Given the description of an element on the screen output the (x, y) to click on. 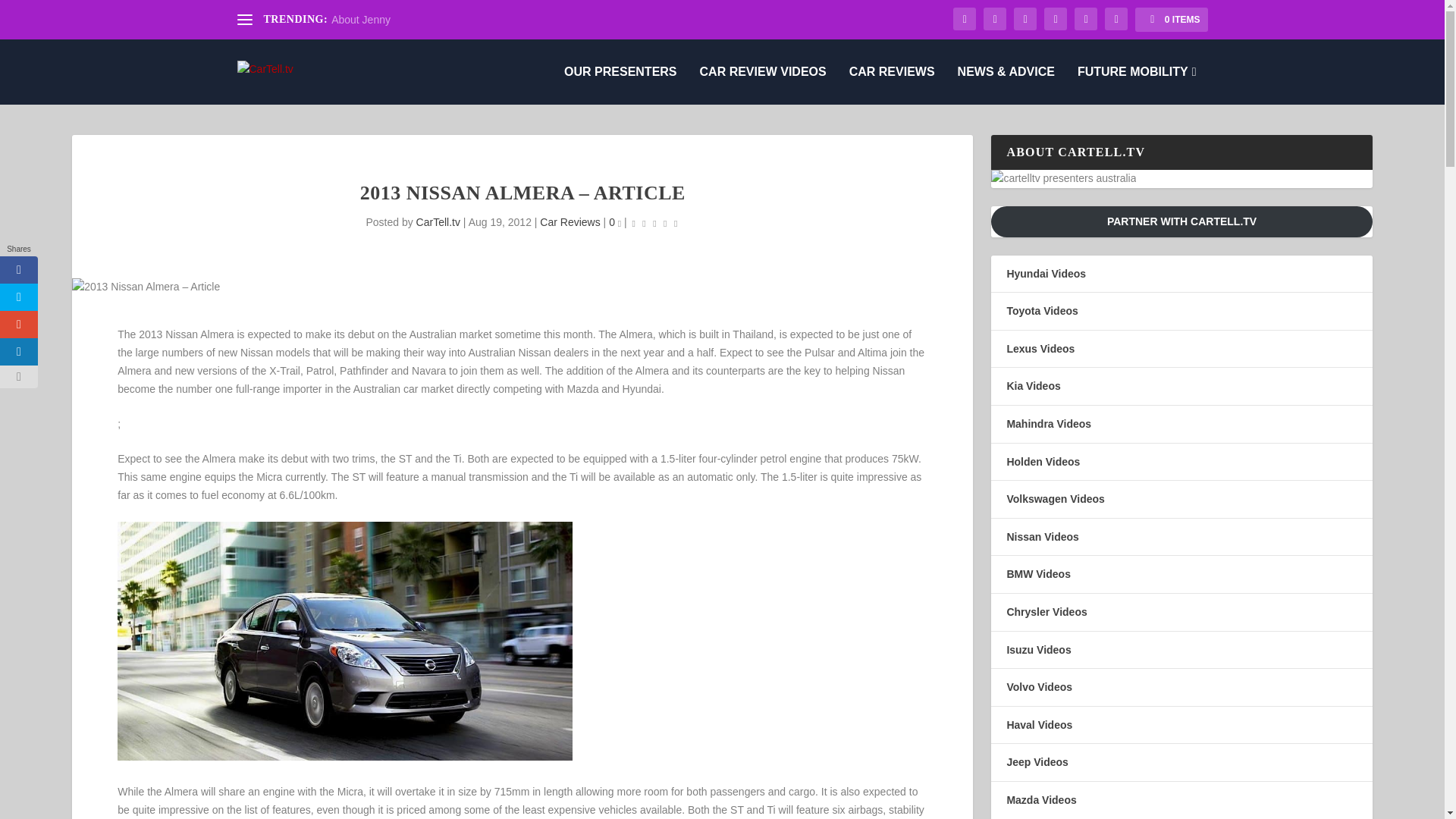
CAR REVIEWS (891, 85)
Rating: 0.00 (654, 222)
CarTell.tv (438, 222)
Posts by CarTell.tv (438, 222)
0 ITEMS (1171, 19)
About Jenny (360, 19)
Car Reviews (569, 222)
OUR PRESENTERS (620, 85)
0 (614, 222)
CAR REVIEW VIDEOS (763, 85)
